Given the description of an element on the screen output the (x, y) to click on. 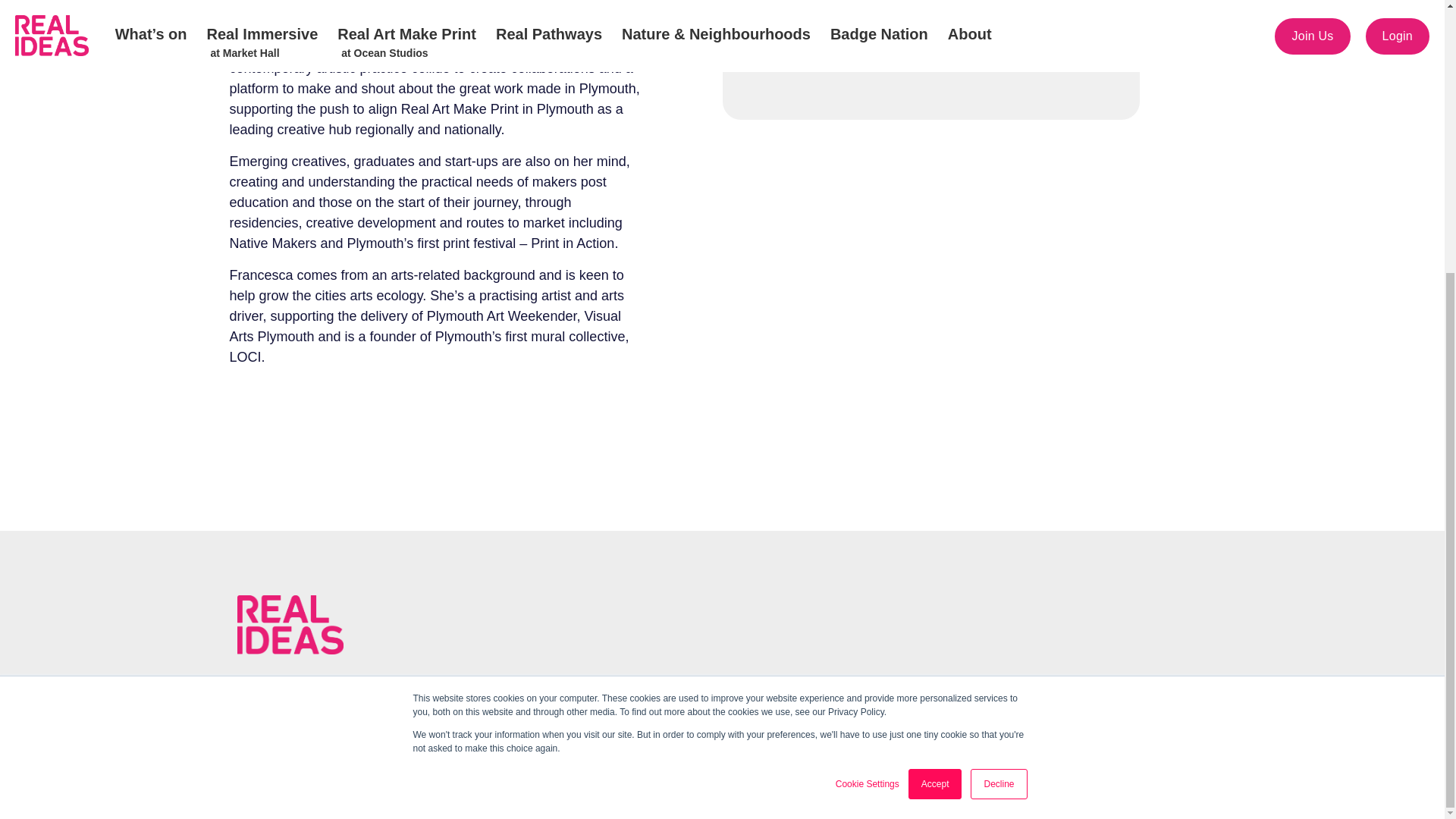
Accept (935, 382)
Decline (998, 382)
Badge Nation (836, 731)
Real Pathways (545, 731)
Cookie Settings (867, 382)
Privacy Notice (560, 766)
Real Art Make Print (419, 731)
Real Immersive (288, 731)
